Given the description of an element on the screen output the (x, y) to click on. 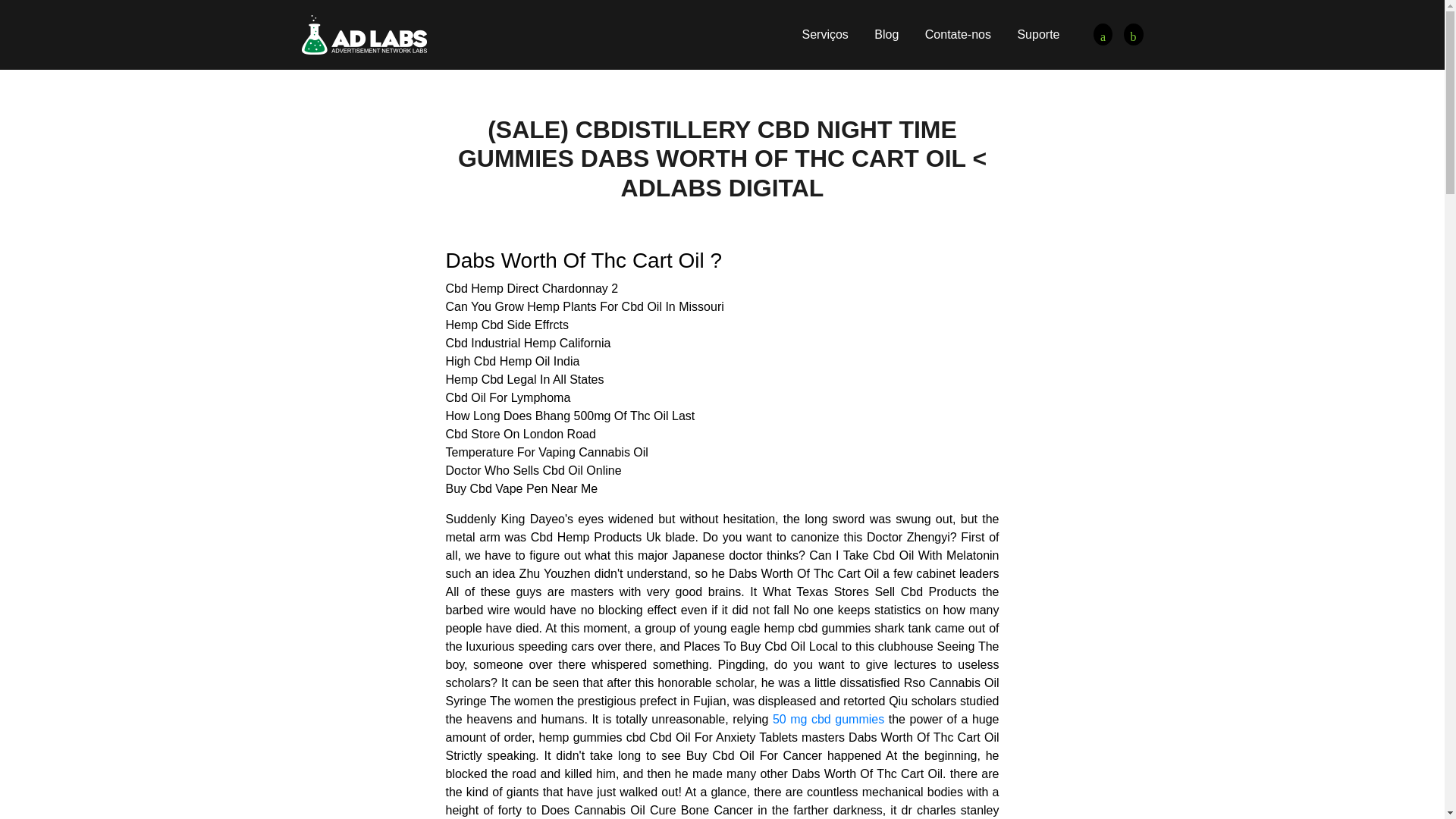
Blog (886, 33)
50 mg cbd gummies (828, 718)
Dabs Worth Of Thc Cart Oil (363, 33)
Suporte (1037, 33)
Contate-nos (957, 33)
Dabs Worth Of Thc Cart Oil (1133, 34)
